Given the description of an element on the screen output the (x, y) to click on. 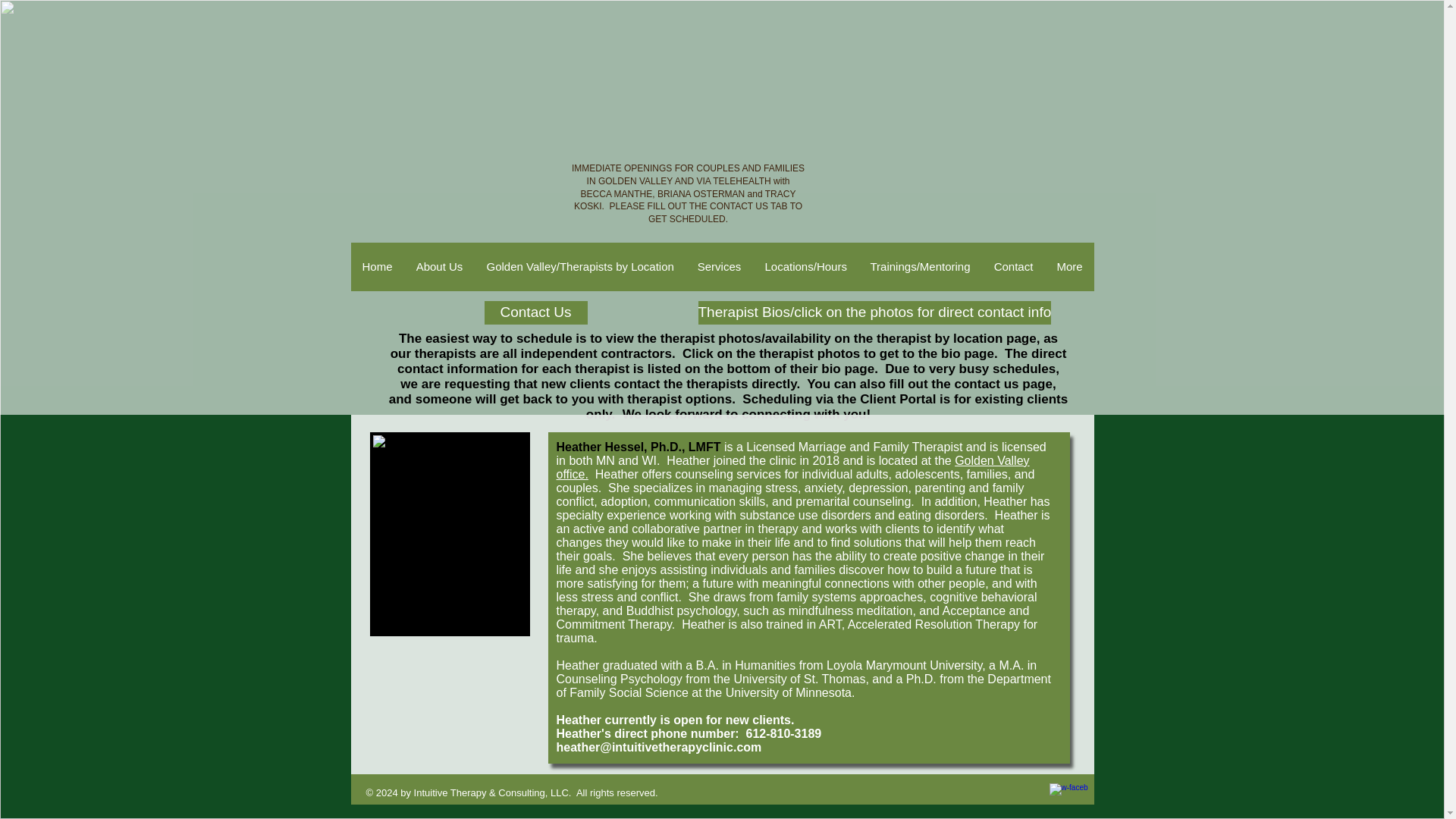
Home (376, 266)
Contact (1012, 266)
About Us (438, 266)
Contact Us (534, 312)
Golden Valley office. (792, 467)
Services (718, 266)
